Given the description of an element on the screen output the (x, y) to click on. 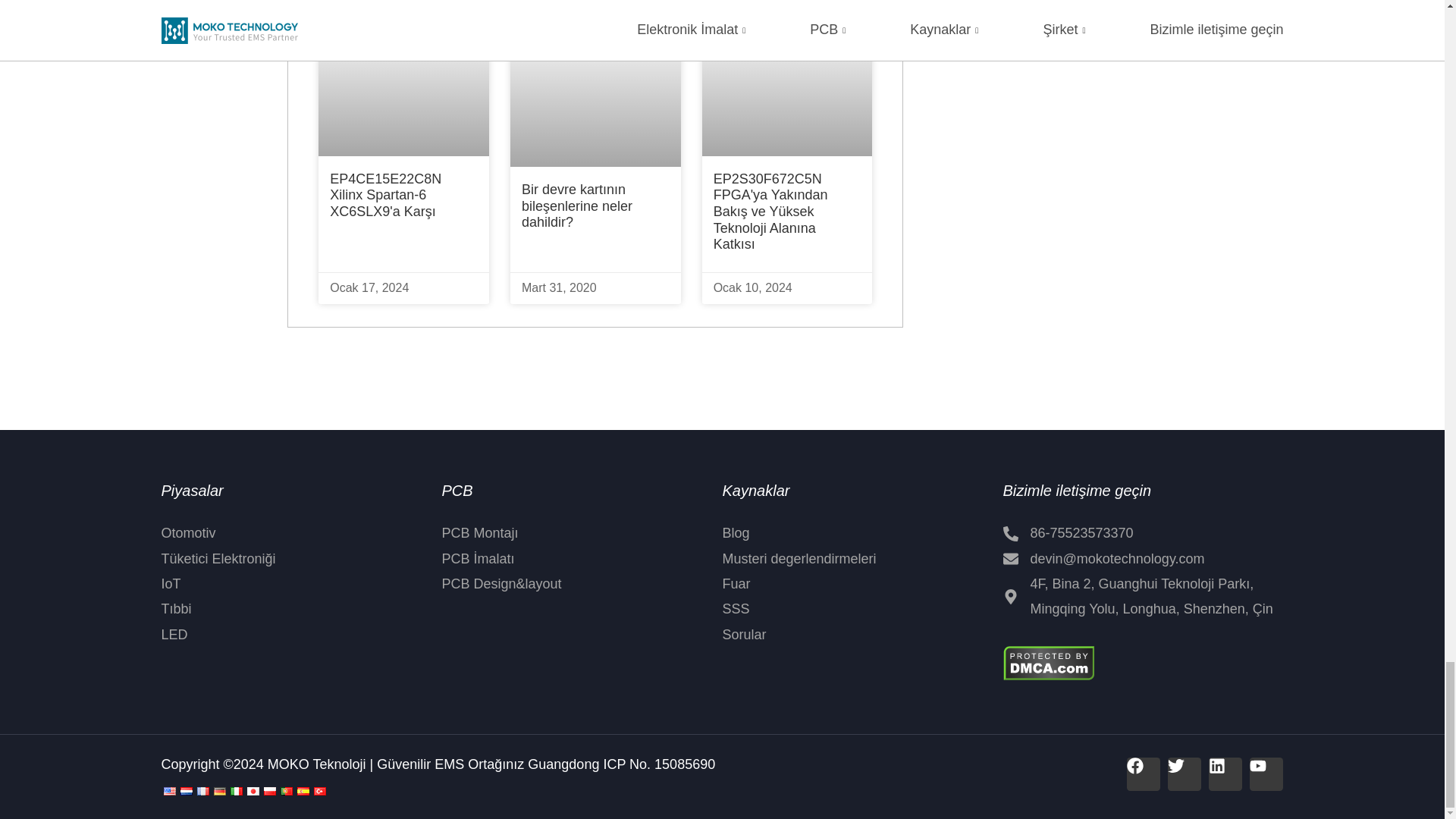
Deutsch (219, 791)
English (168, 791)
Polski (269, 791)
Italiano (235, 791)
Nederlands (185, 791)
DMCA.com Koruma Durumu (1048, 661)
